Given the description of an element on the screen output the (x, y) to click on. 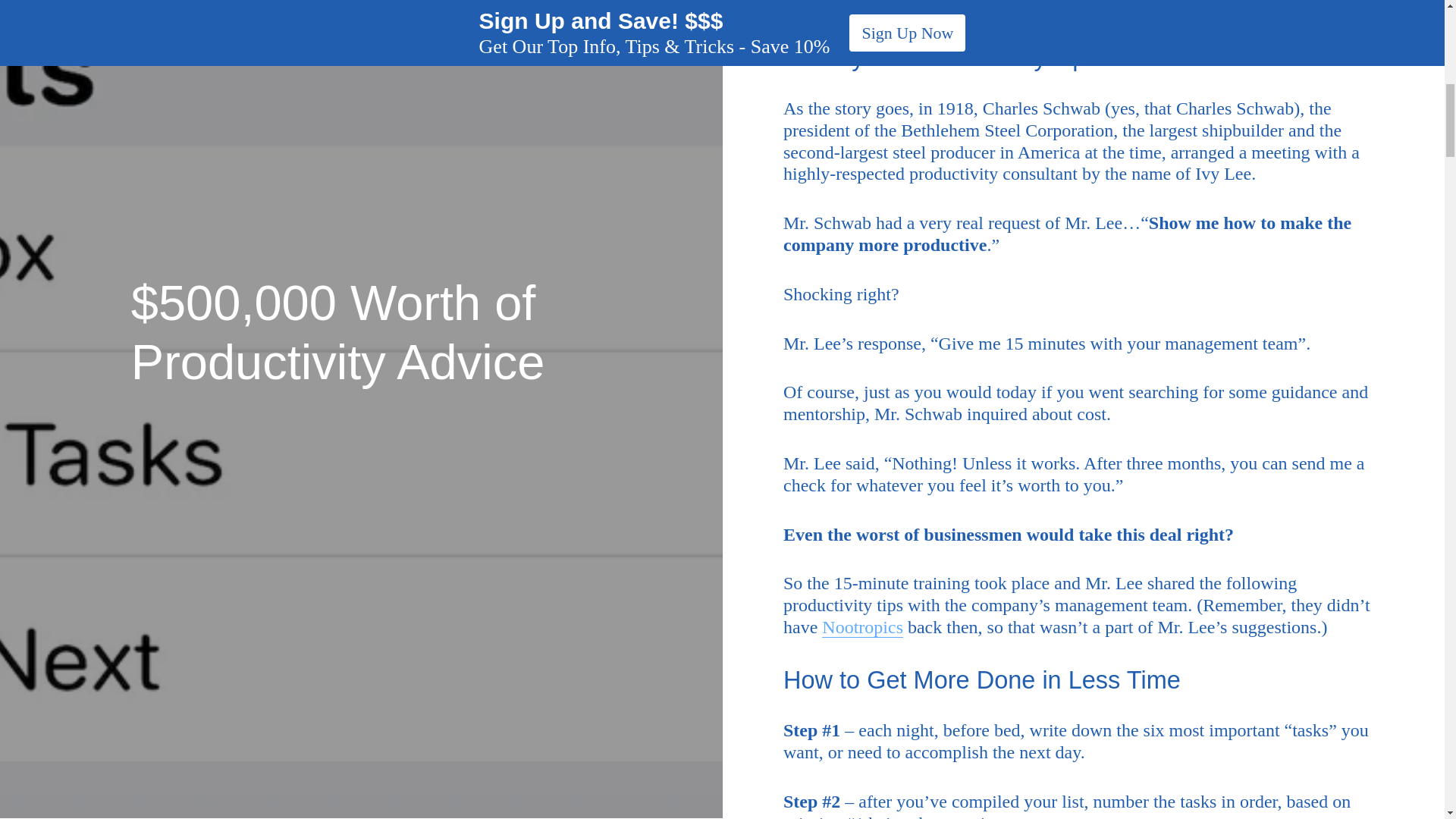
Nootropics (862, 627)
